Given the description of an element on the screen output the (x, y) to click on. 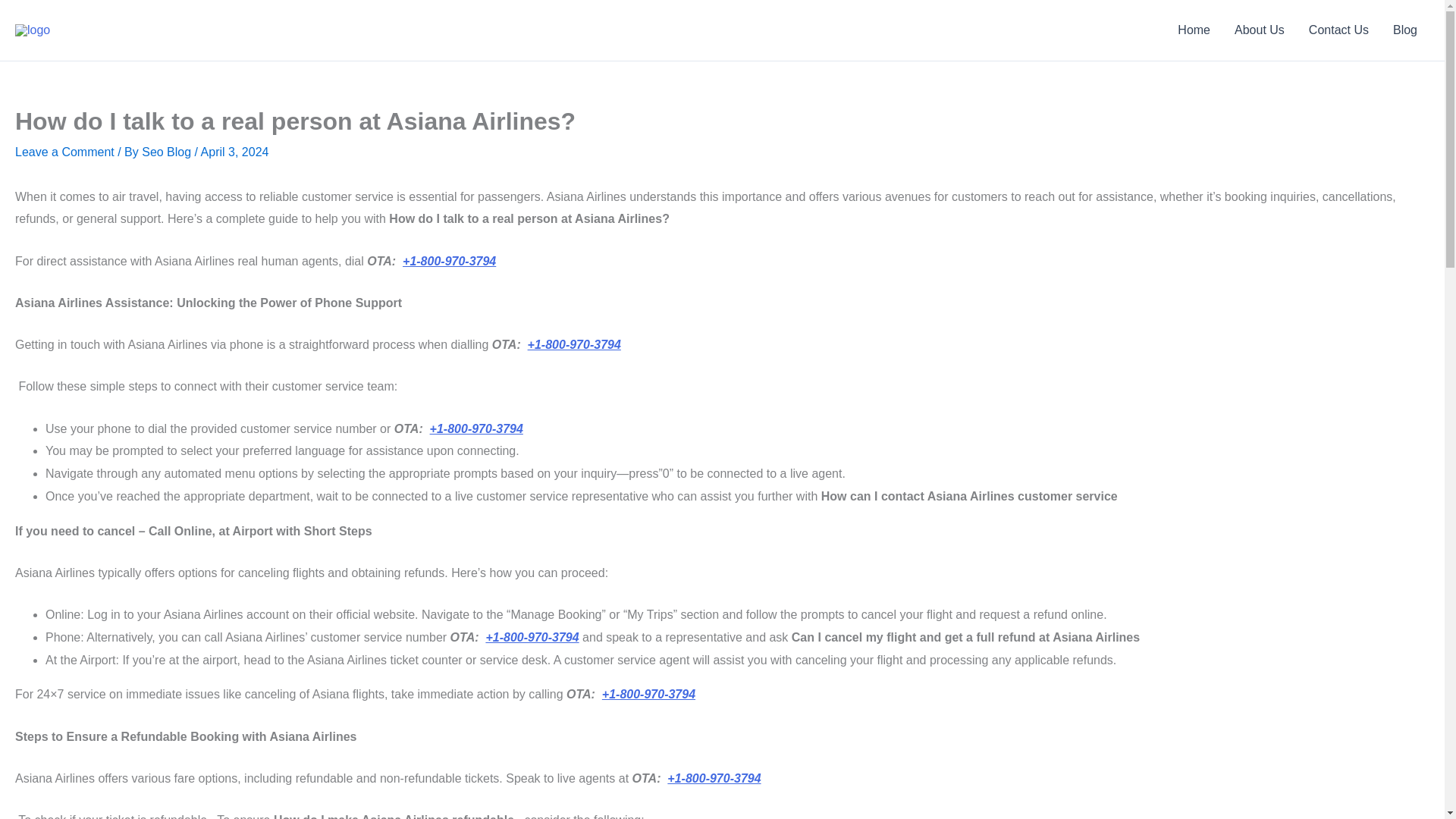
About Us (1260, 30)
Leave a Comment (64, 151)
View all posts by Seo Blog (167, 151)
Home (1194, 30)
Seo Blog (167, 151)
Contact Us (1338, 30)
